Given the description of an element on the screen output the (x, y) to click on. 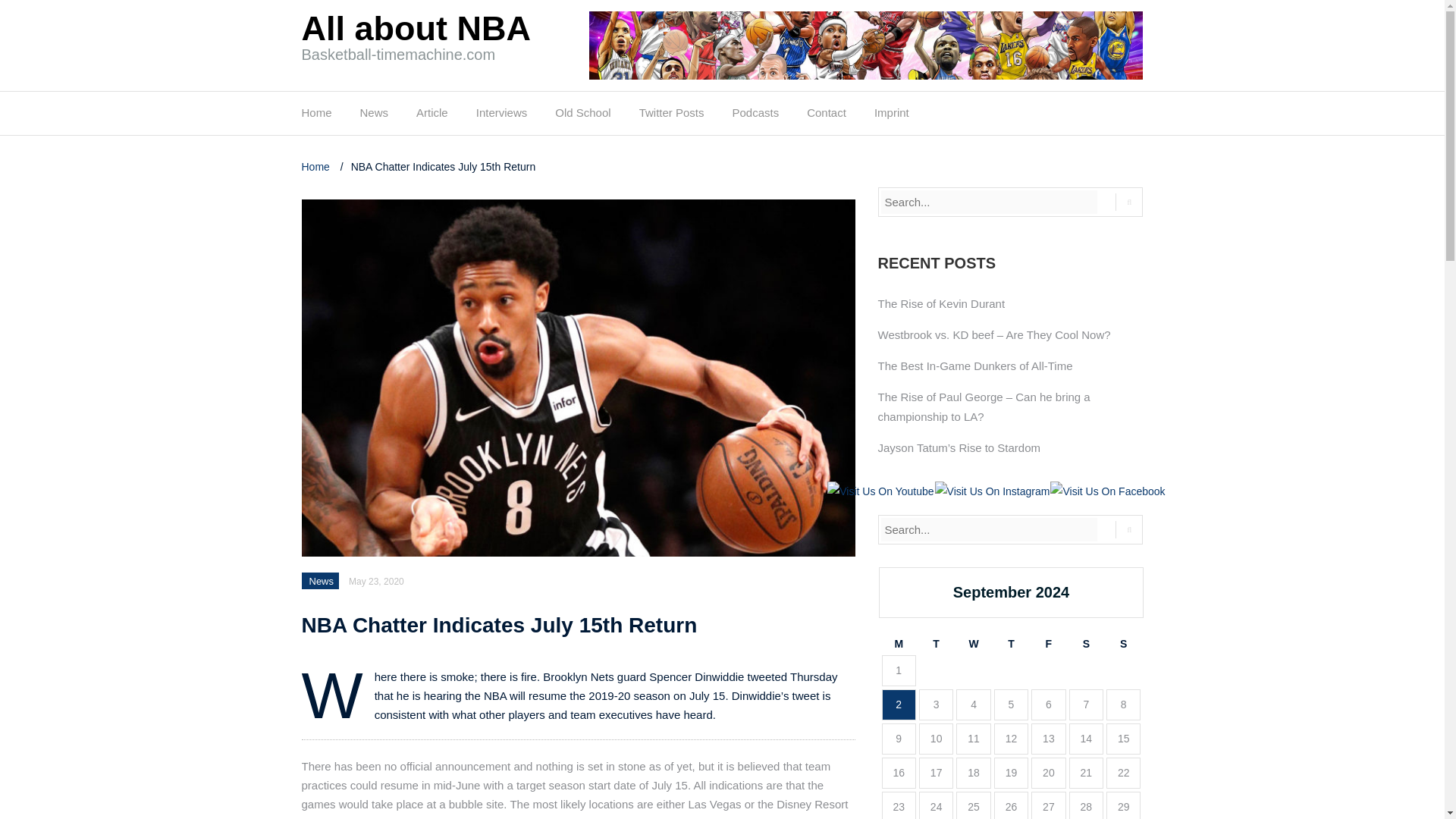
Twitter Posts (671, 116)
Visit Us On Facebook (1106, 490)
News (321, 581)
Home (317, 166)
Interviews (501, 116)
Old School (582, 116)
Sunday (1123, 643)
Visit Us On Youtube (880, 490)
Saturday (1085, 643)
All about NBA (416, 28)
